Given the description of an element on the screen output the (x, y) to click on. 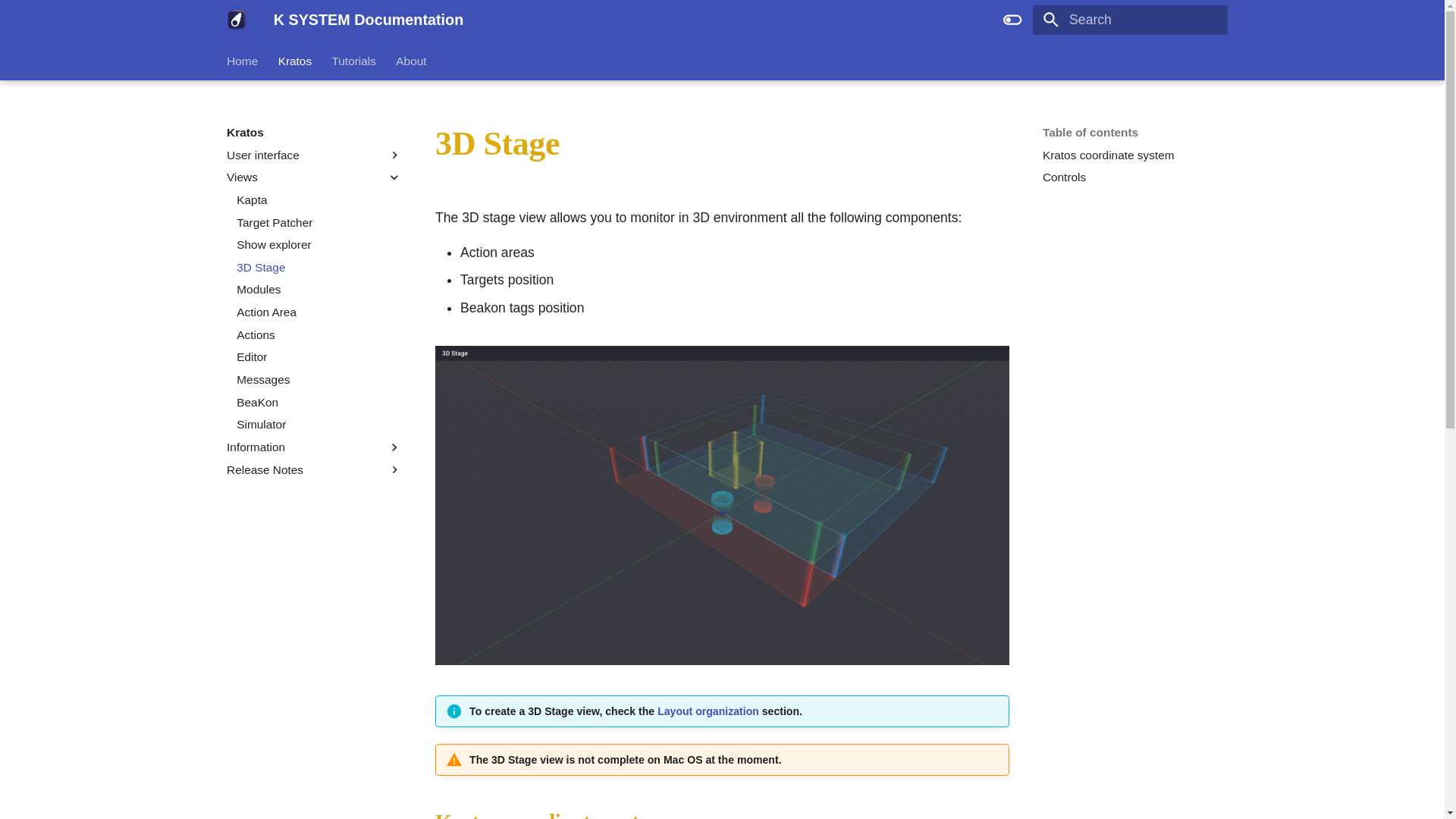
Kratos (314, 132)
Editor (318, 356)
About (411, 60)
Kratos (294, 60)
Target Patcher (318, 222)
Show explorer (318, 244)
Action Area (318, 312)
3D Stage (318, 267)
Messages (318, 379)
BeaKon (318, 402)
Kapta (318, 200)
Modules (318, 289)
Tutorials (353, 60)
K SYSTEM Documentation (236, 19)
Switch to dark mode (1012, 19)
